Given the description of an element on the screen output the (x, y) to click on. 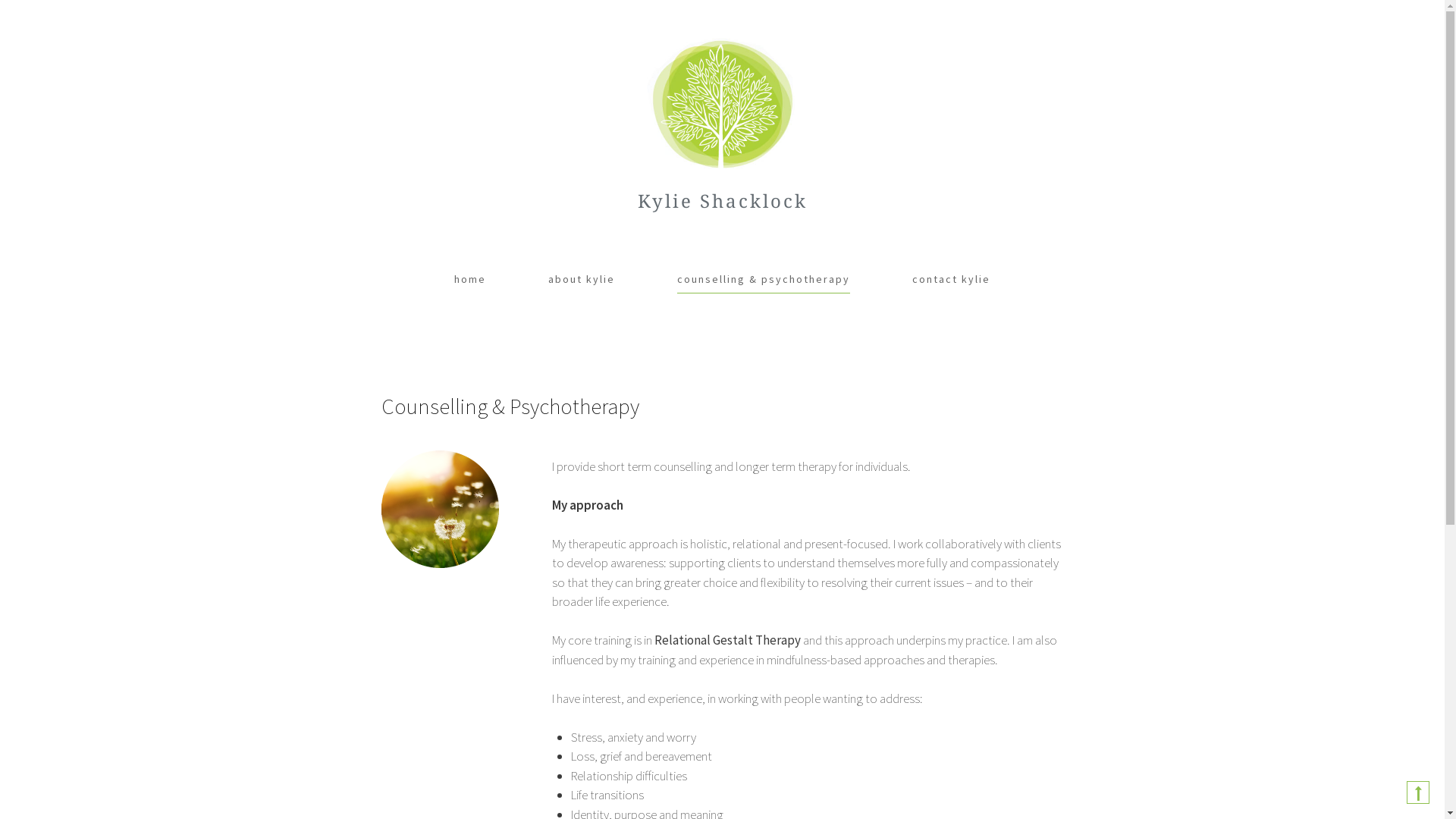
home Element type: text (470, 279)
about kylie Element type: text (581, 279)
contact kylie Element type: text (951, 279)
Relational Gestalt Therapy Element type: text (726, 640)
counselling & psychotherapy Element type: text (763, 279)
